Given the description of an element on the screen output the (x, y) to click on. 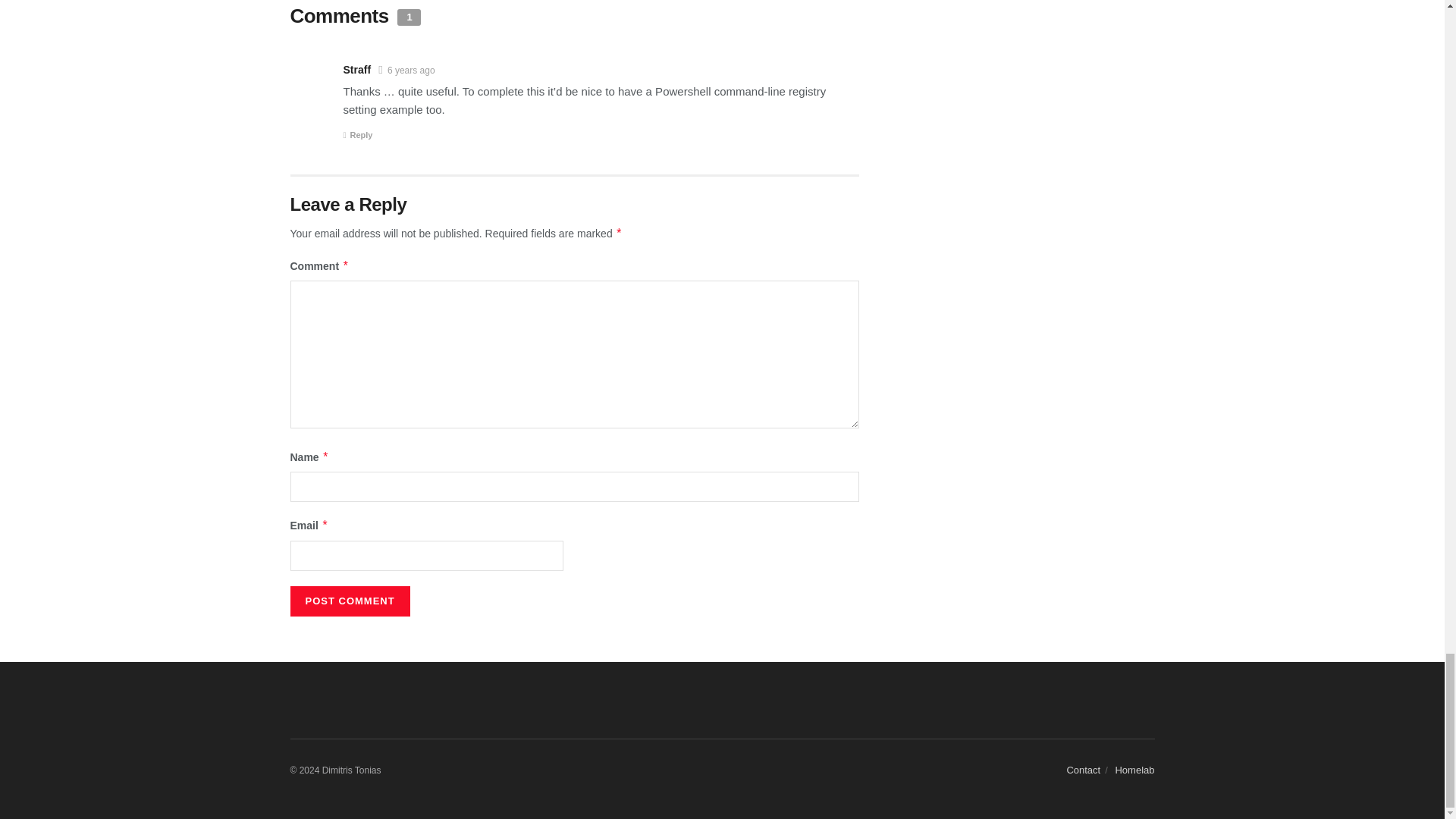
Post Comment (349, 601)
